Given the description of an element on the screen output the (x, y) to click on. 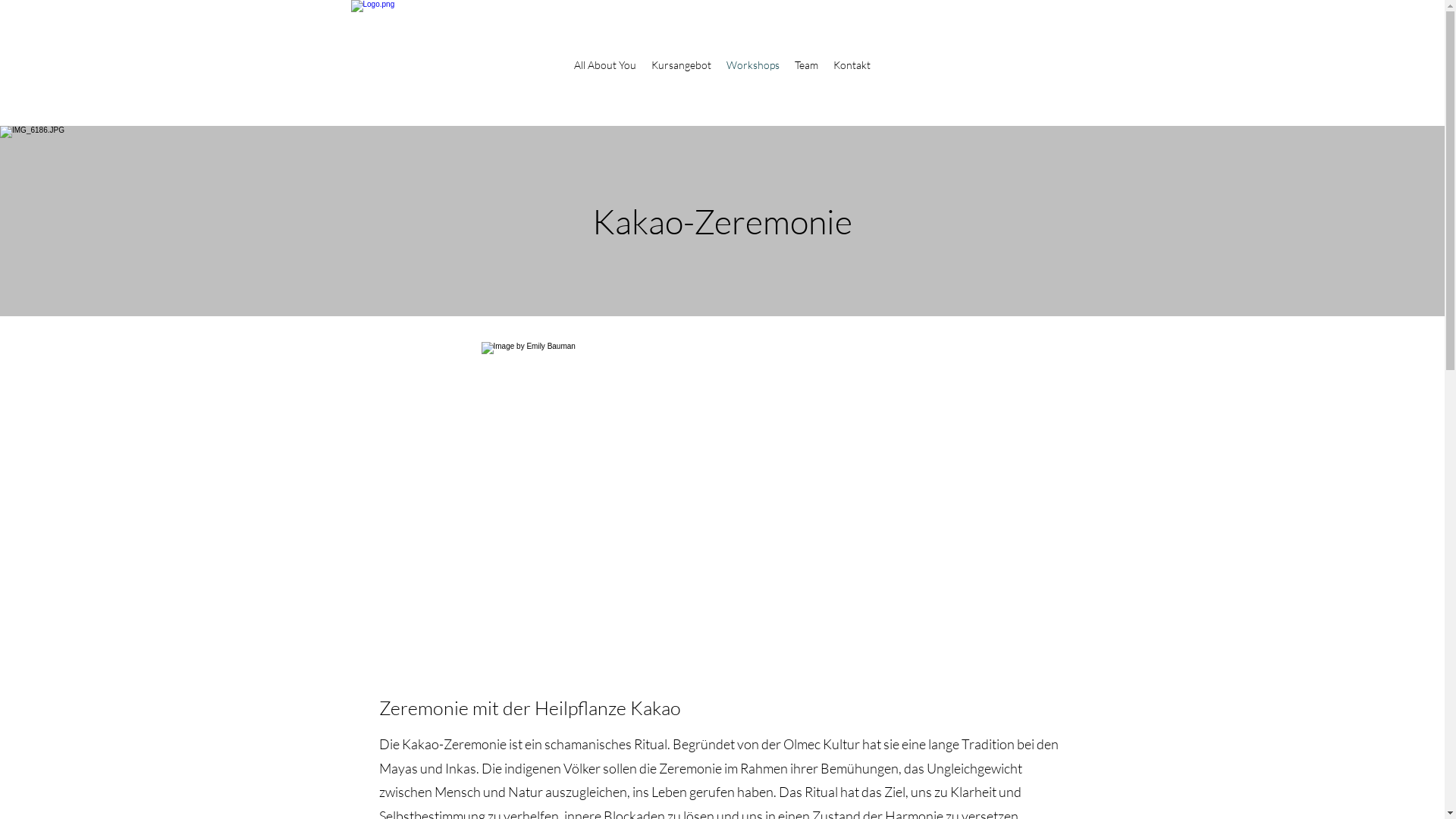
All About You Element type: text (604, 64)
Kontakt Element type: text (851, 64)
Kursangebot Element type: text (680, 64)
Workshops Element type: text (752, 64)
Team Element type: text (806, 64)
